Given the description of an element on the screen output the (x, y) to click on. 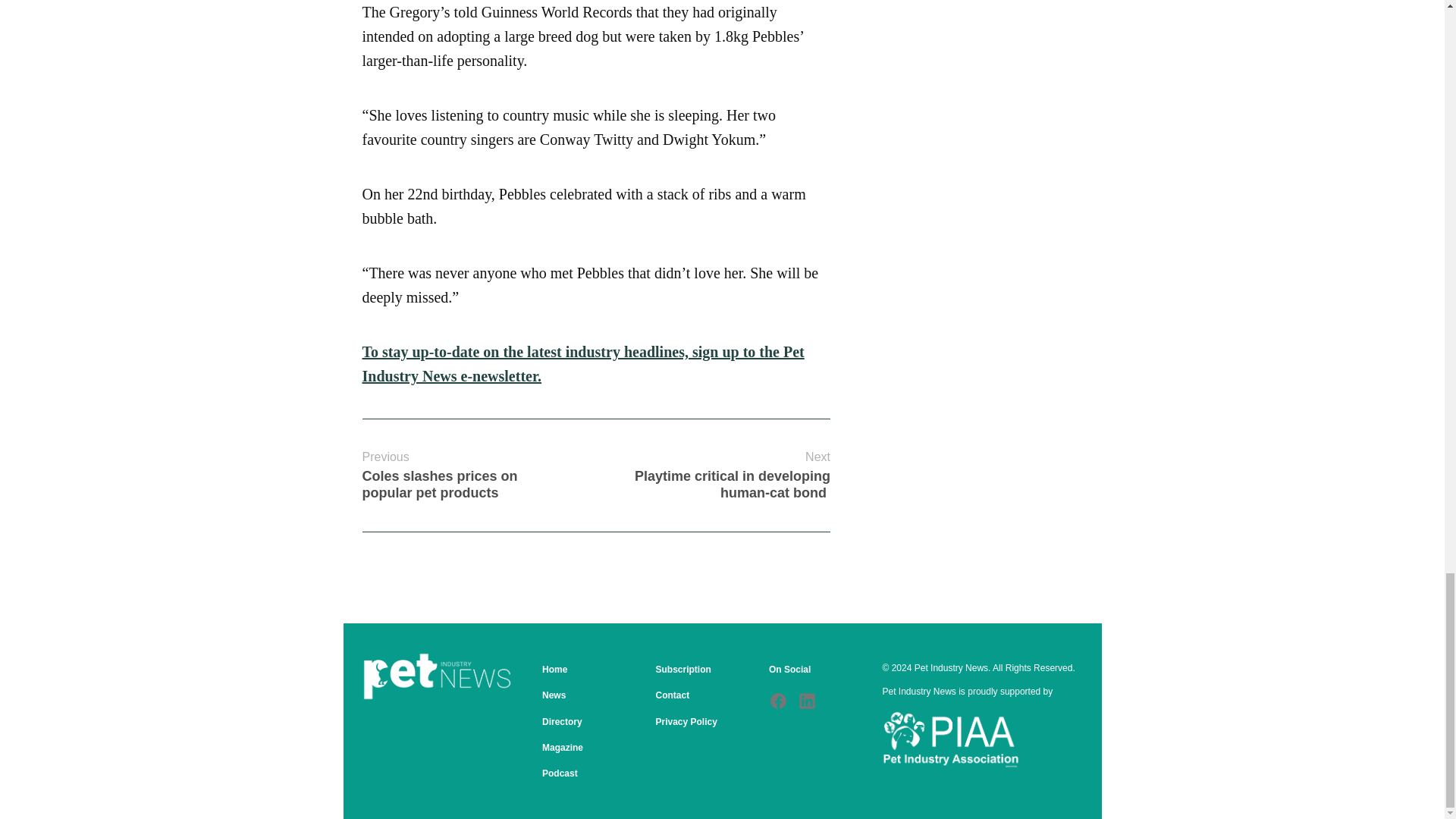
3rd party ad content (967, 2)
